Given the description of an element on the screen output the (x, y) to click on. 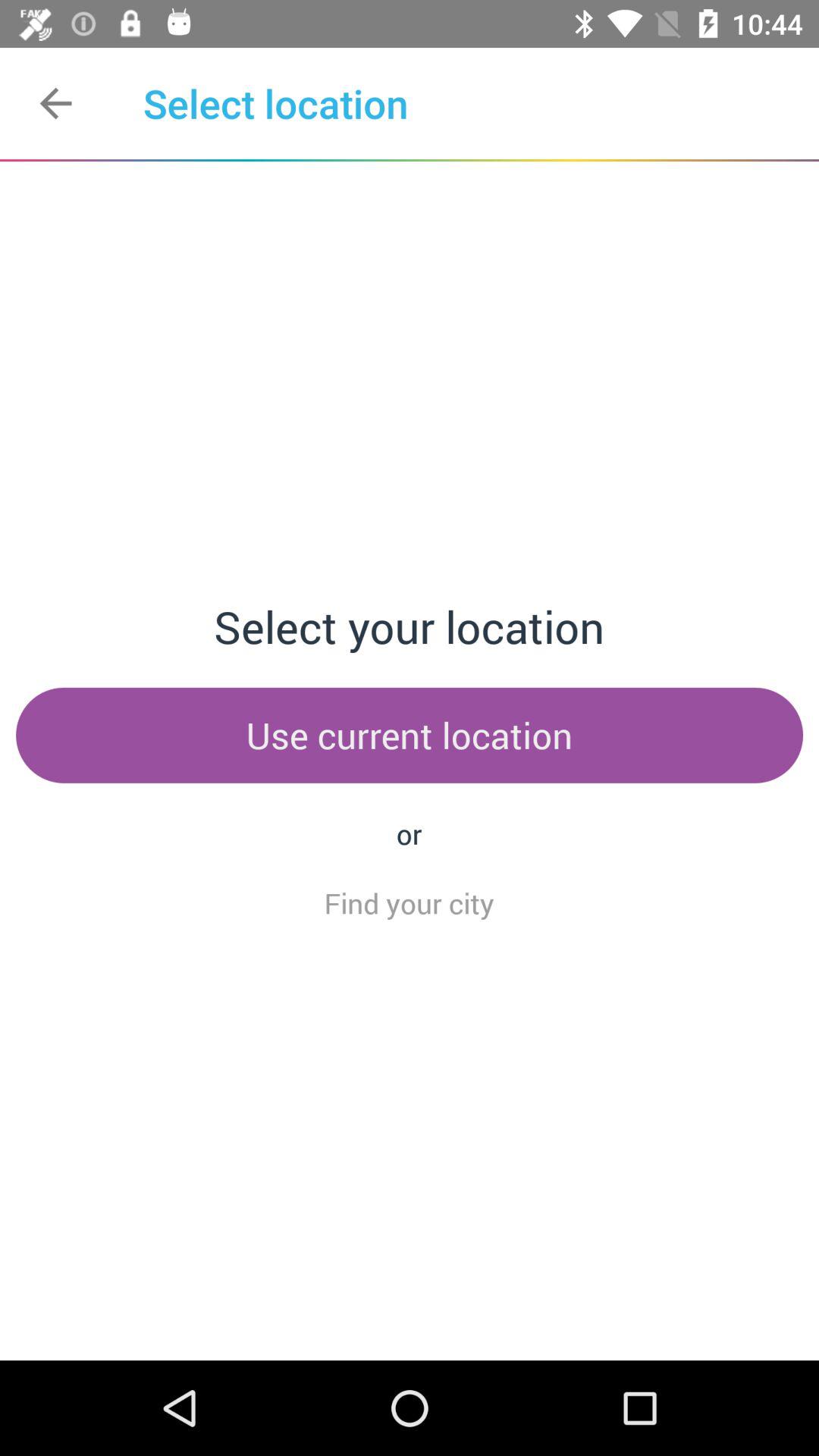
launch the item below the or icon (409, 902)
